Given the description of an element on the screen output the (x, y) to click on. 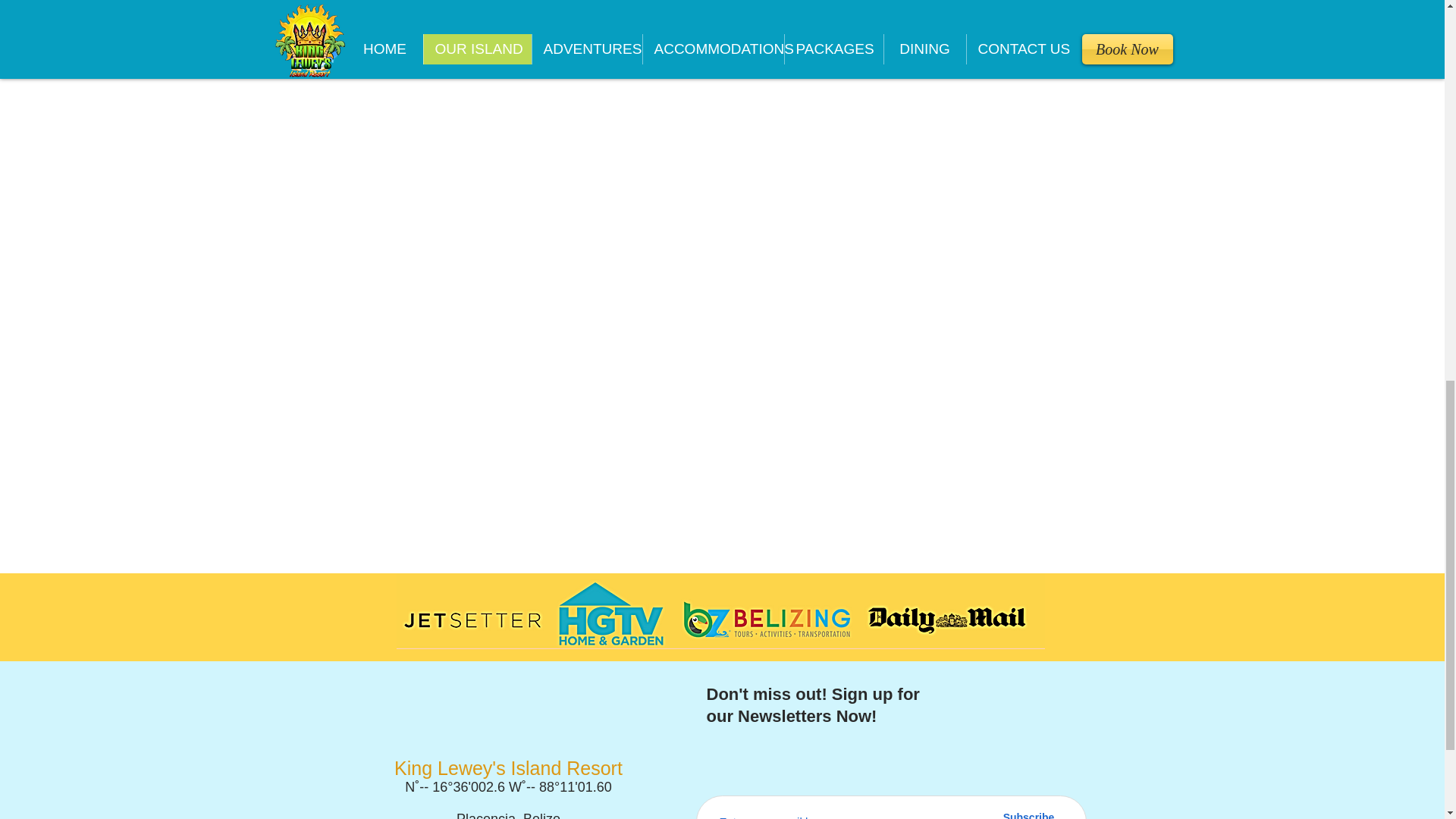
Subscribe (1028, 812)
